Given the description of an element on the screen output the (x, y) to click on. 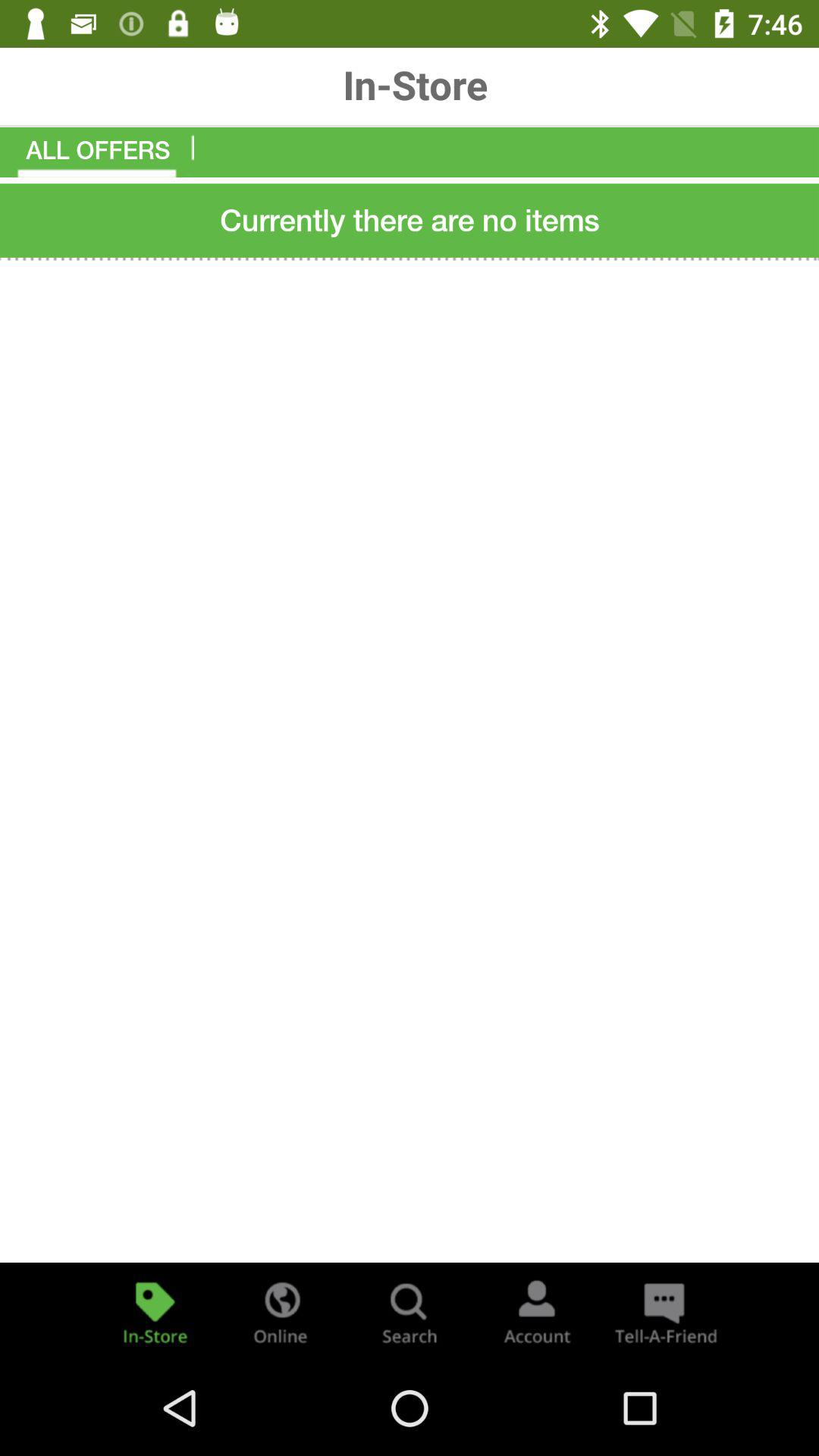
search (409, 1311)
